Given the description of an element on the screen output the (x, y) to click on. 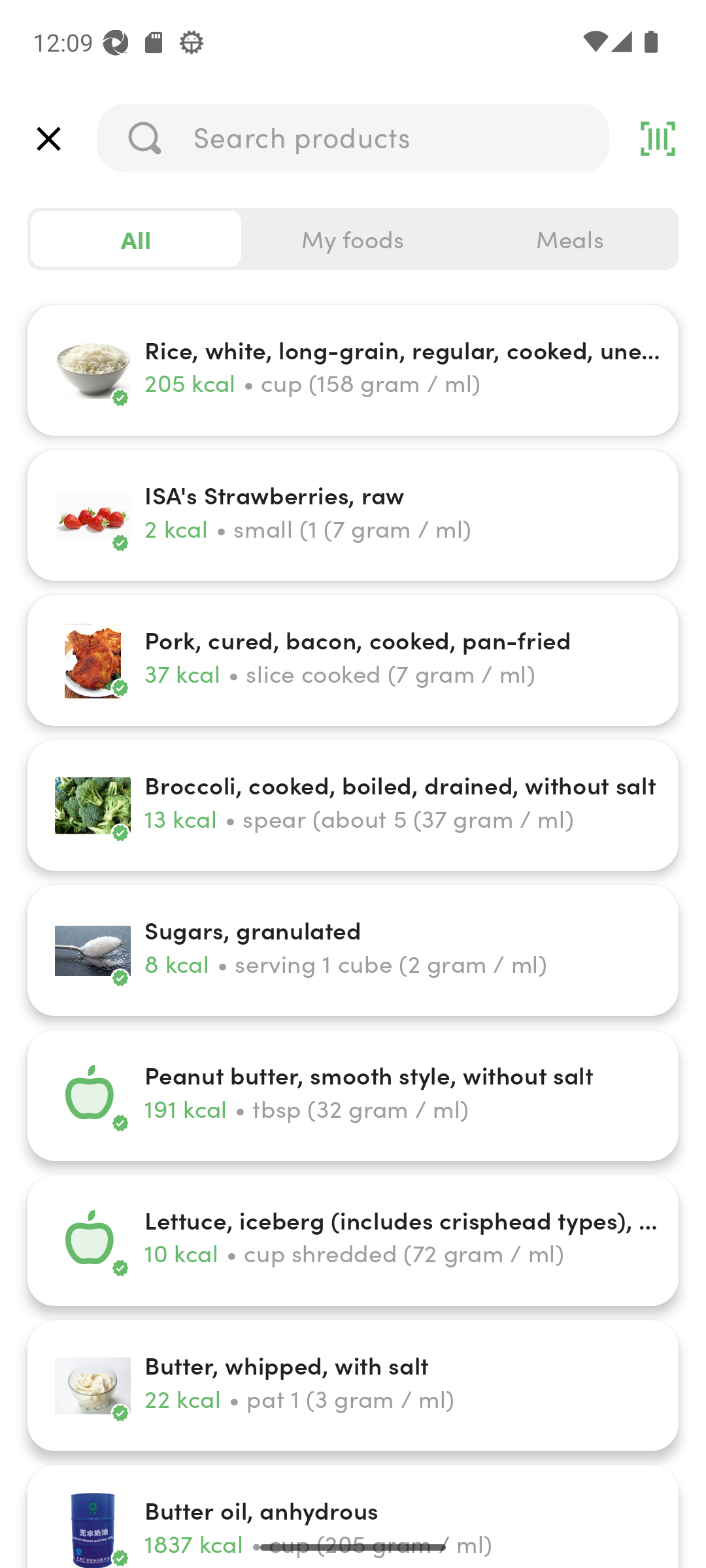
top_left_action (48, 138)
top_right_action (658, 138)
My foods (352, 238)
Meals (569, 238)
